Given the description of an element on the screen output the (x, y) to click on. 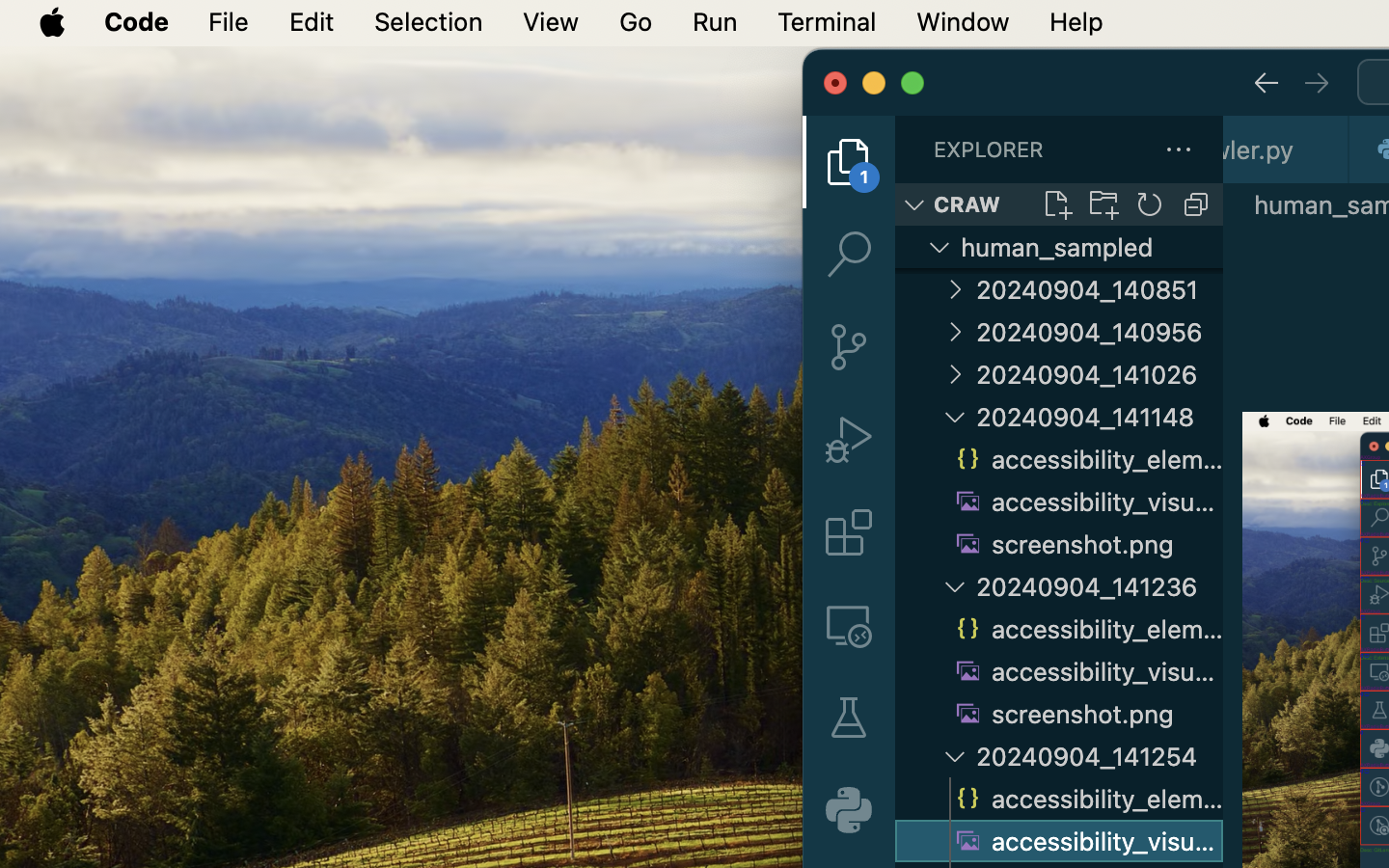
0  Element type: AXRadioButton (848, 717)
screenshot.png  Element type: AXGroup (1086, 543)
20240904_141236 Element type: AXGroup (1099, 586)
20240904_141148 Element type: AXGroup (1099, 416)
 Element type: AXGroup (848, 254)
